Given the description of an element on the screen output the (x, y) to click on. 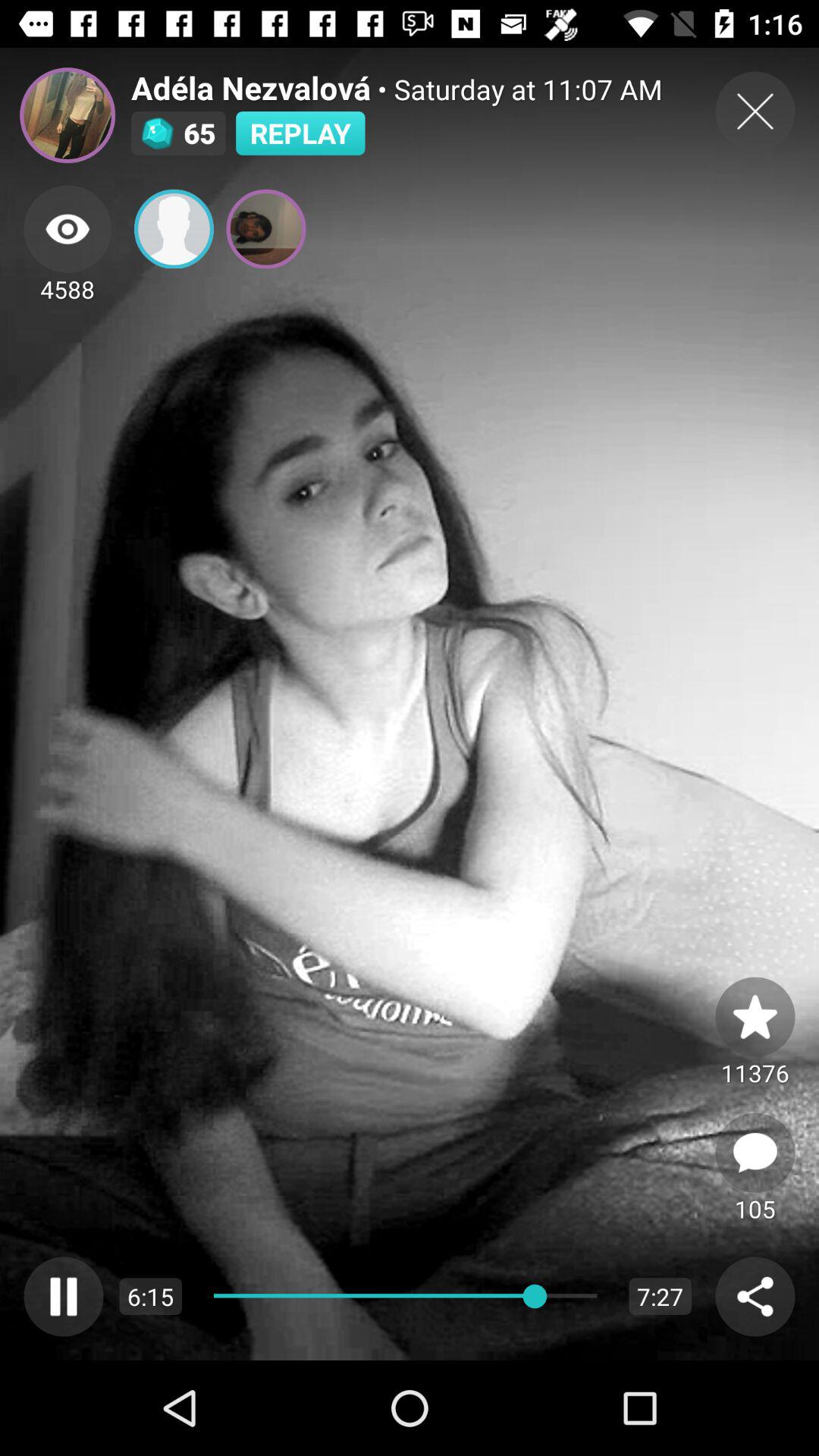
eye icon option (67, 229)
